Given the description of an element on the screen output the (x, y) to click on. 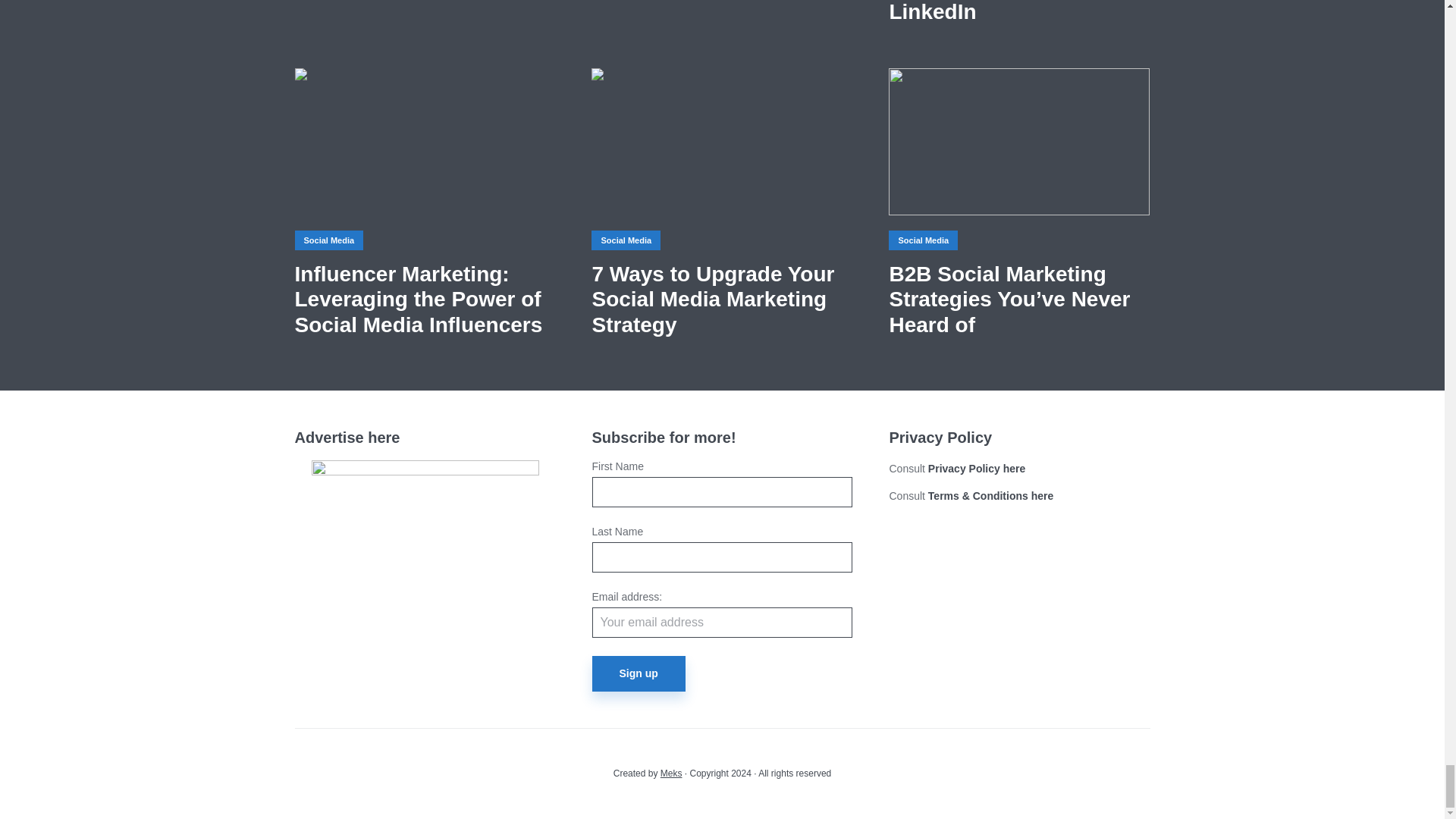
Sign up (637, 673)
